Given the description of an element on the screen output the (x, y) to click on. 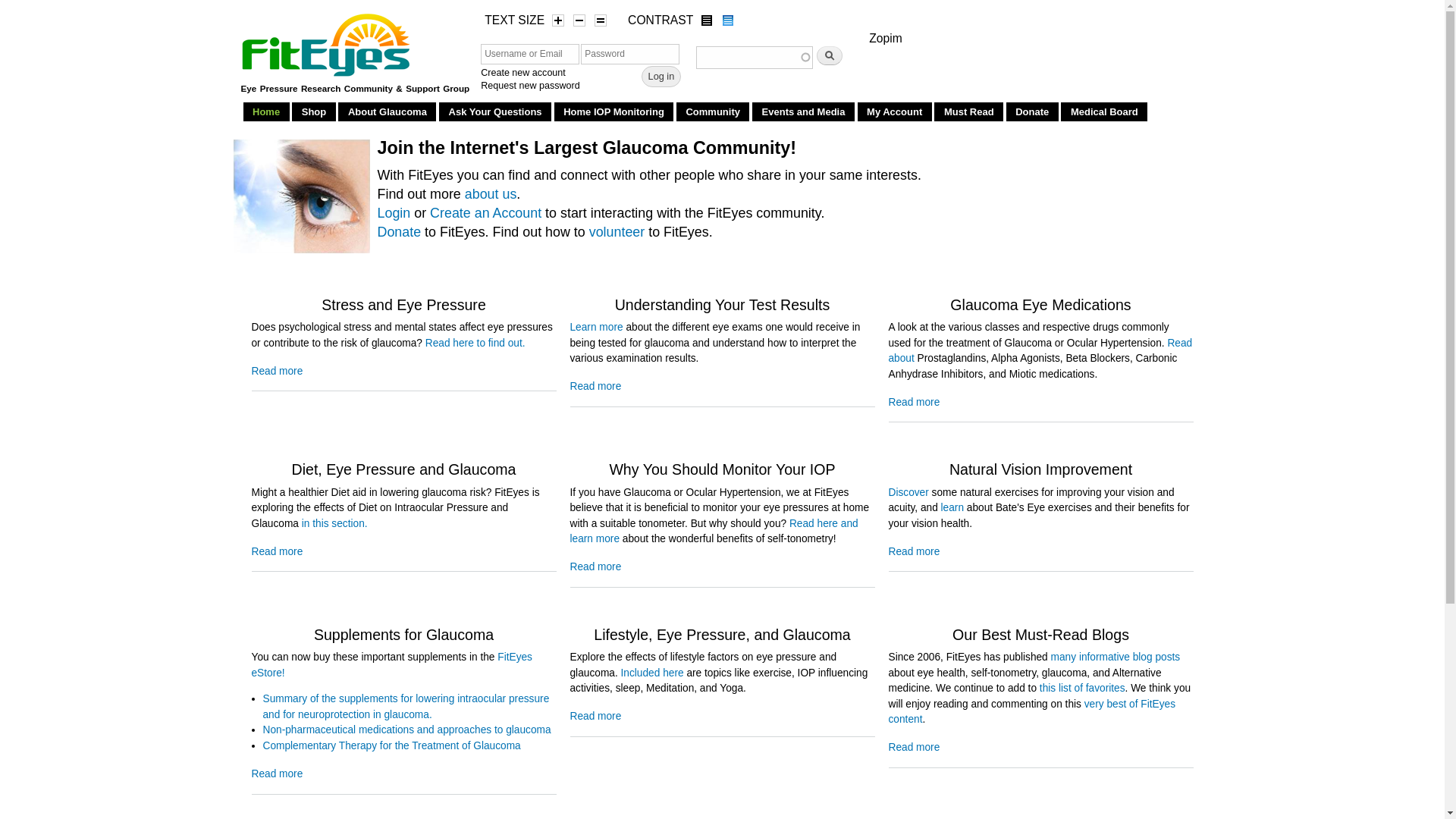
Request new password via e-mail. (529, 85)
Home (265, 111)
Log in (661, 76)
Request new password (529, 85)
Create new account (523, 72)
Skip to main content (684, 1)
Create a new user account. (523, 72)
Page Style: Standard (727, 20)
Search (829, 54)
Enter the terms you wish to search for. (753, 56)
